Given the description of an element on the screen output the (x, y) to click on. 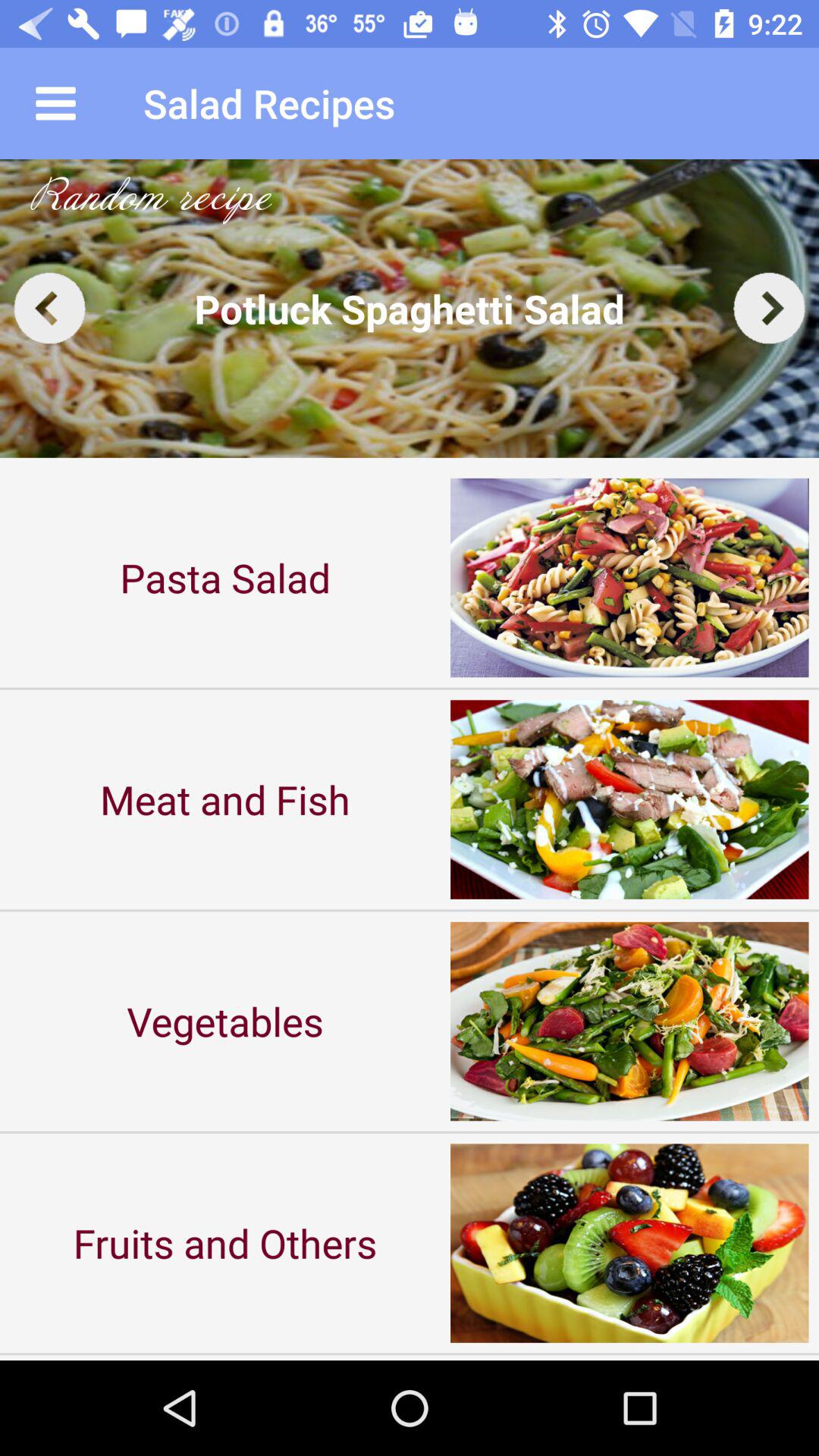
open item next to the salad recipes app (55, 103)
